Given the description of an element on the screen output the (x, y) to click on. 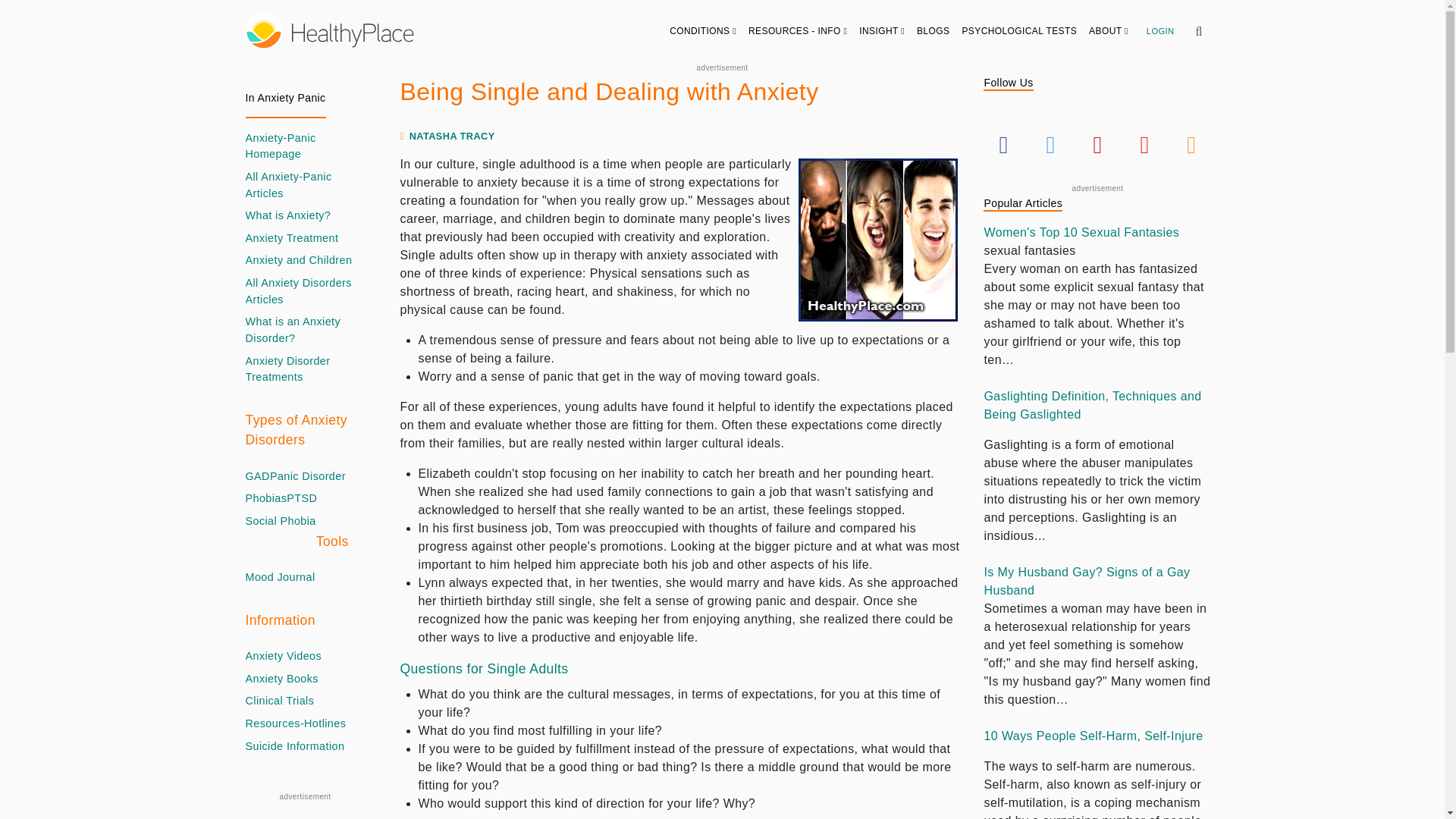
CONDITIONS (702, 31)
INSIGHT (882, 31)
RESOURCES - INFO (797, 31)
